Given the description of an element on the screen output the (x, y) to click on. 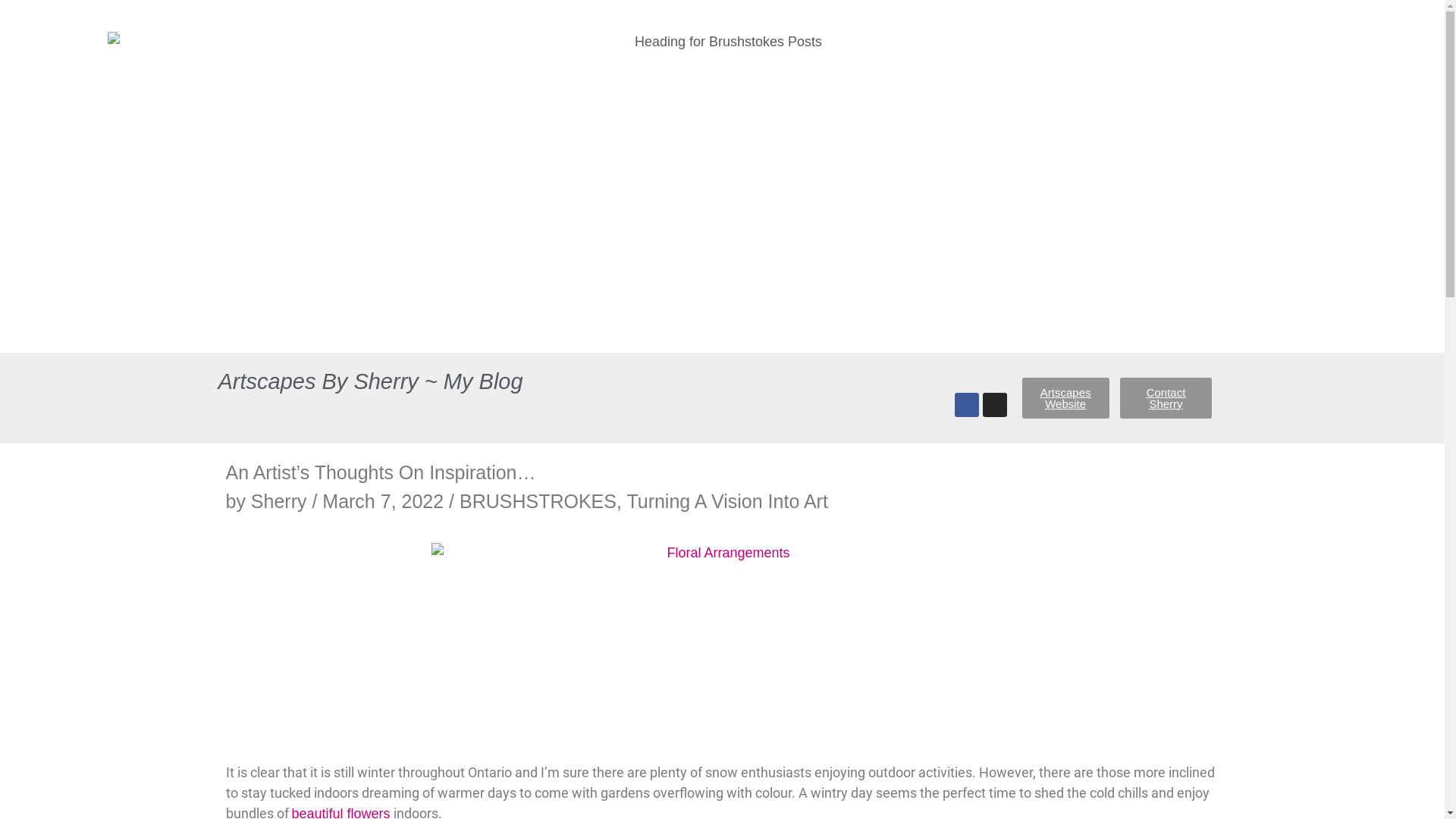
Contact Sherry Element type: text (1166, 397)
Artscapes Website Element type: text (1065, 397)
